Given the description of an element on the screen output the (x, y) to click on. 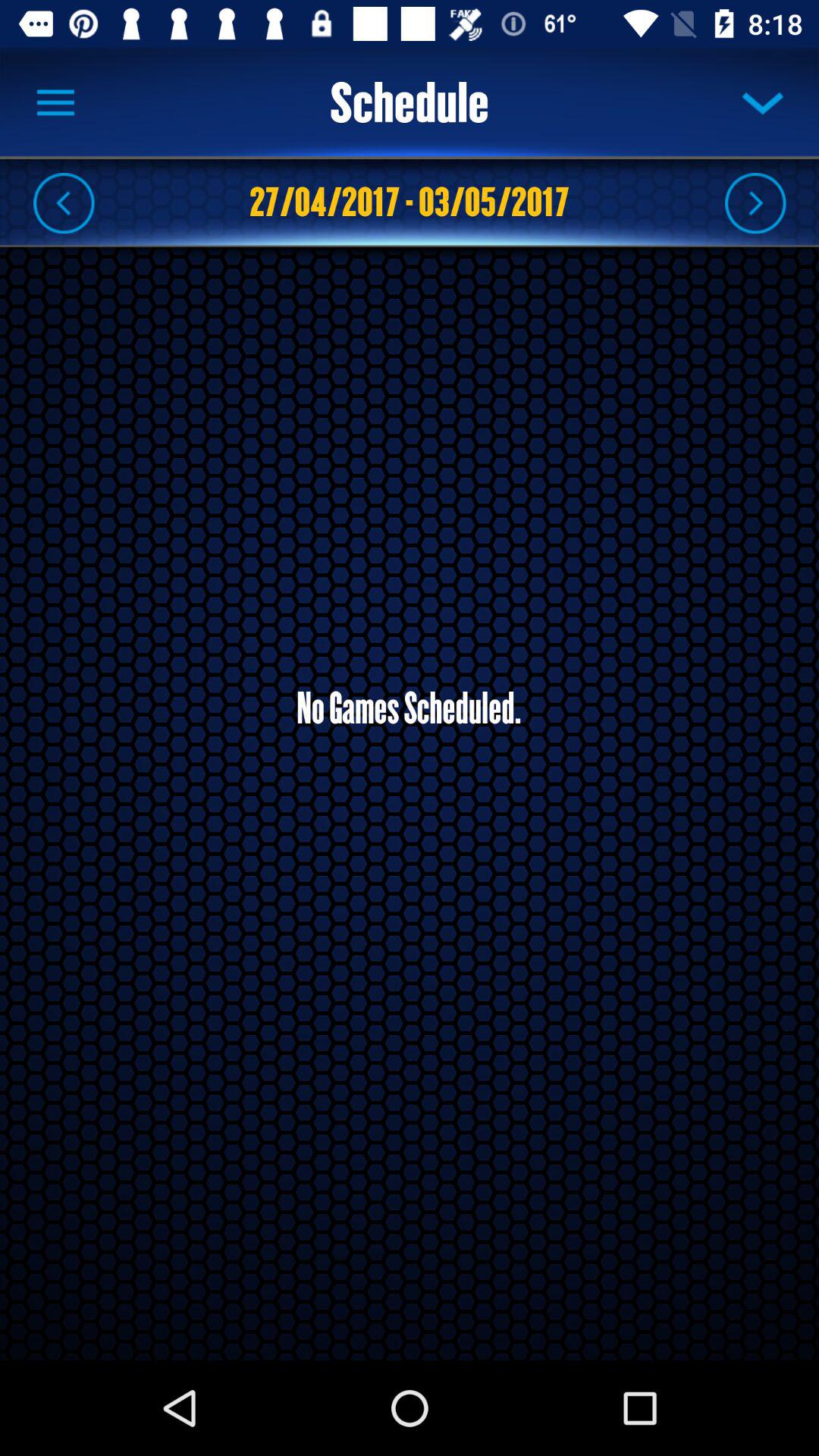
fair ward (755, 202)
